Given the description of an element on the screen output the (x, y) to click on. 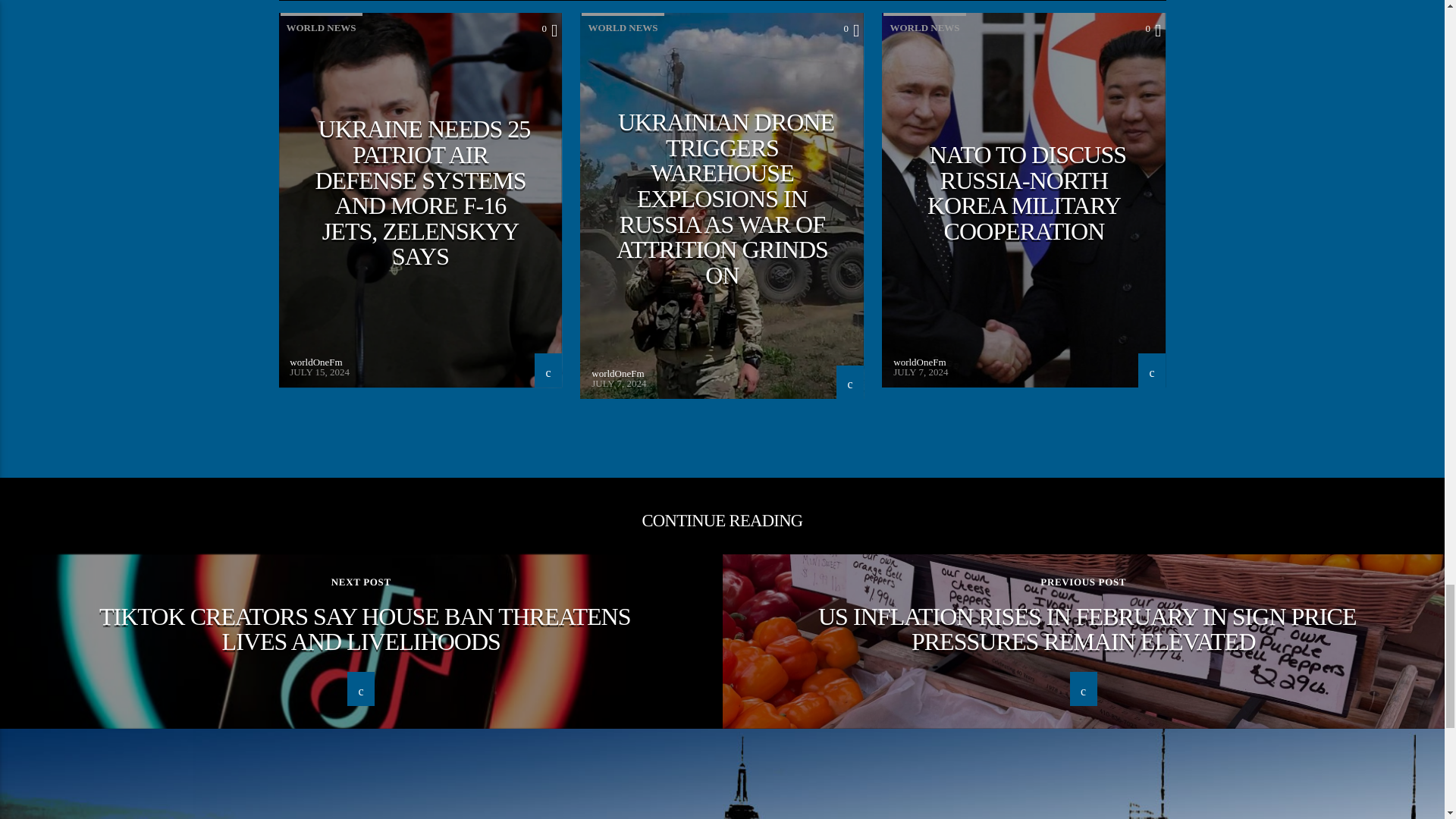
Posts by worldOneFm (918, 361)
Posts by worldOneFm (315, 361)
Posts by worldOneFm (617, 373)
